Given the description of an element on the screen output the (x, y) to click on. 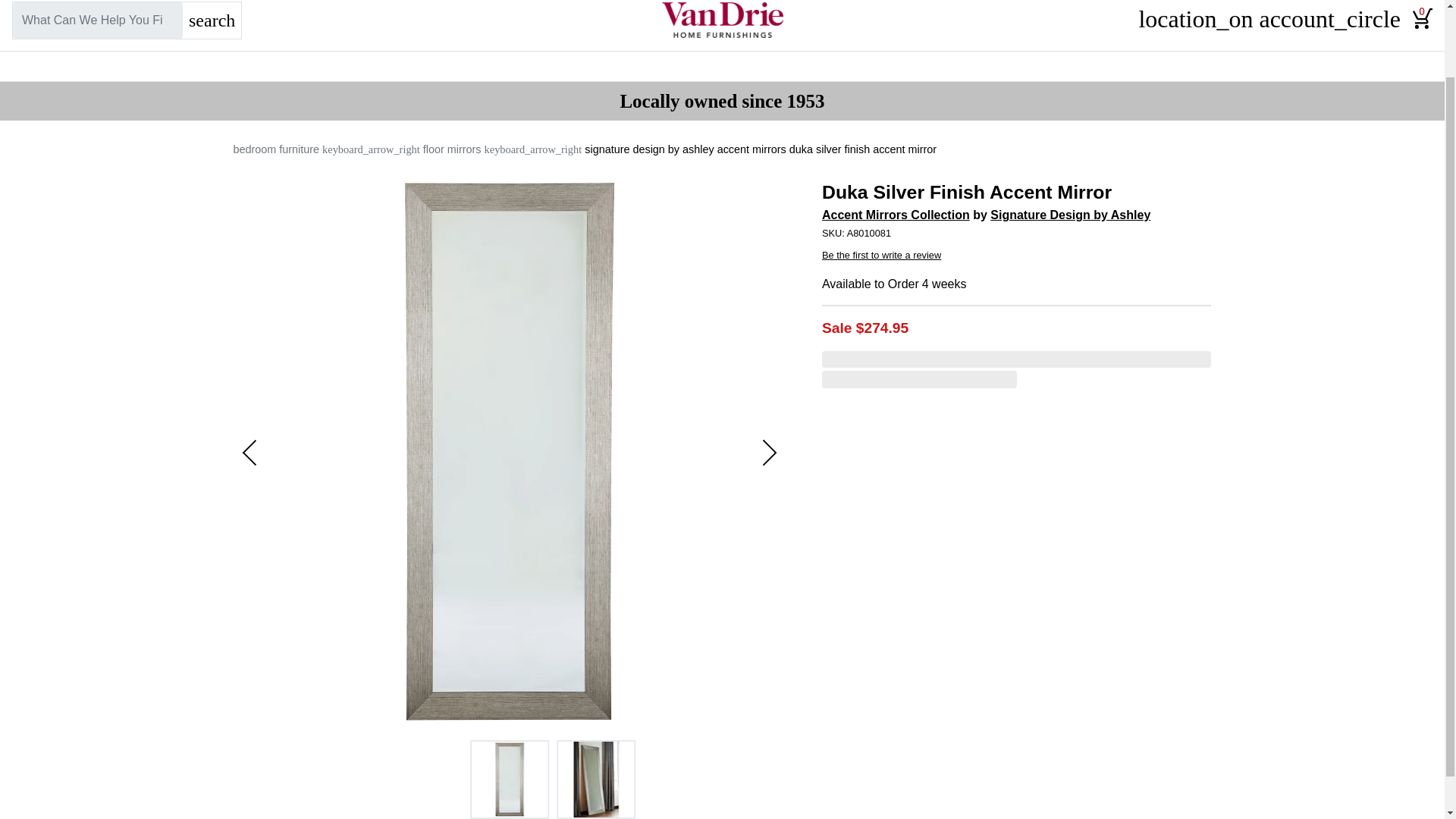
Sign In (1329, 20)
Be the first to write a review (881, 255)
bedroom furniture (276, 149)
floor mirrors (452, 149)
Signature Design by Ashley (1070, 214)
A8010081 (1016, 233)
View our locations (1195, 20)
Accent Mirrors Collection (895, 214)
